Given the description of an element on the screen output the (x, y) to click on. 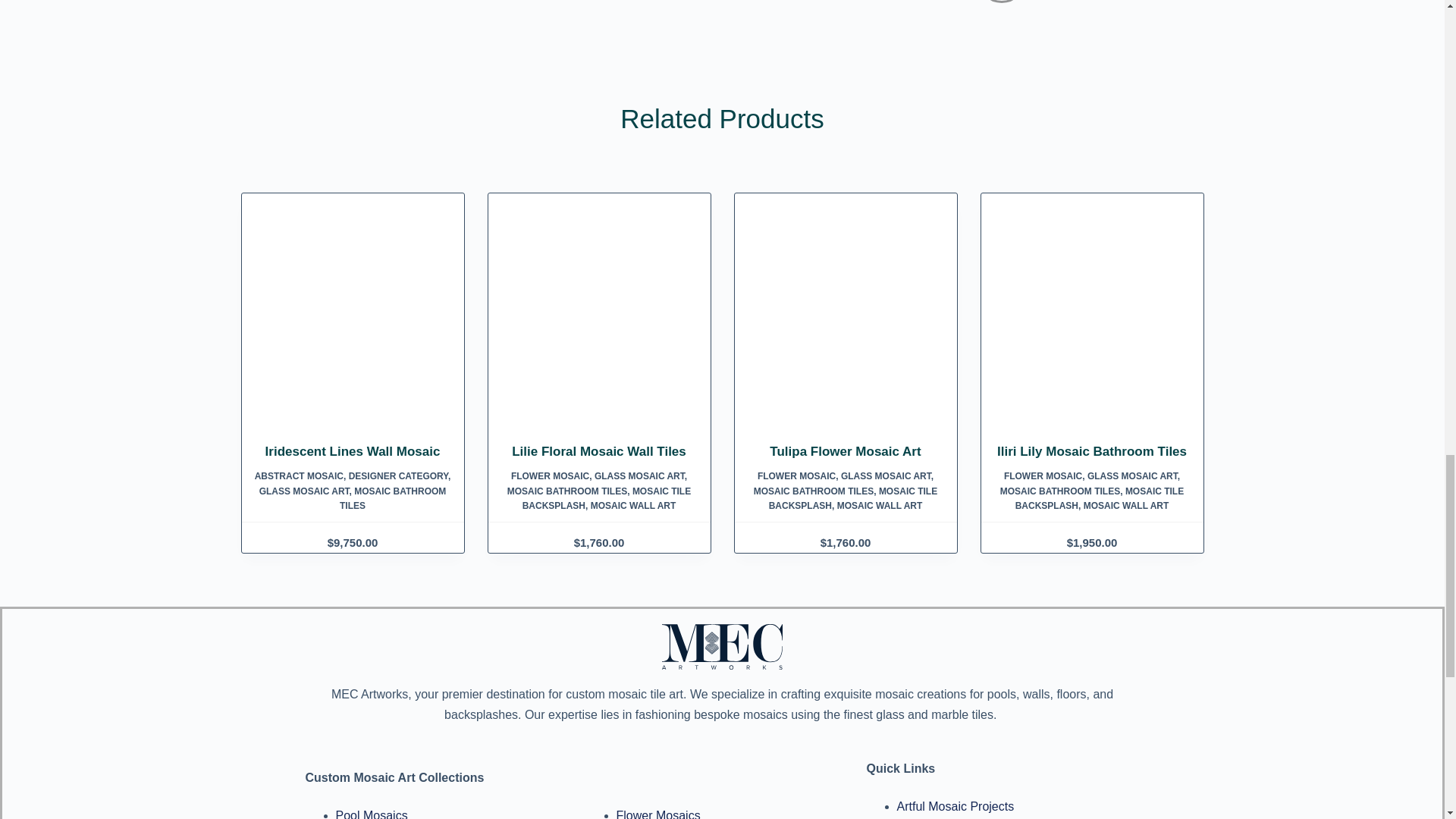
LILIE (598, 319)
floraflora 8-07 (1091, 319)
TULIPA (845, 319)
Iridescent Lines Wall Mosaic dark mosaic art (353, 319)
